Given the description of an element on the screen output the (x, y) to click on. 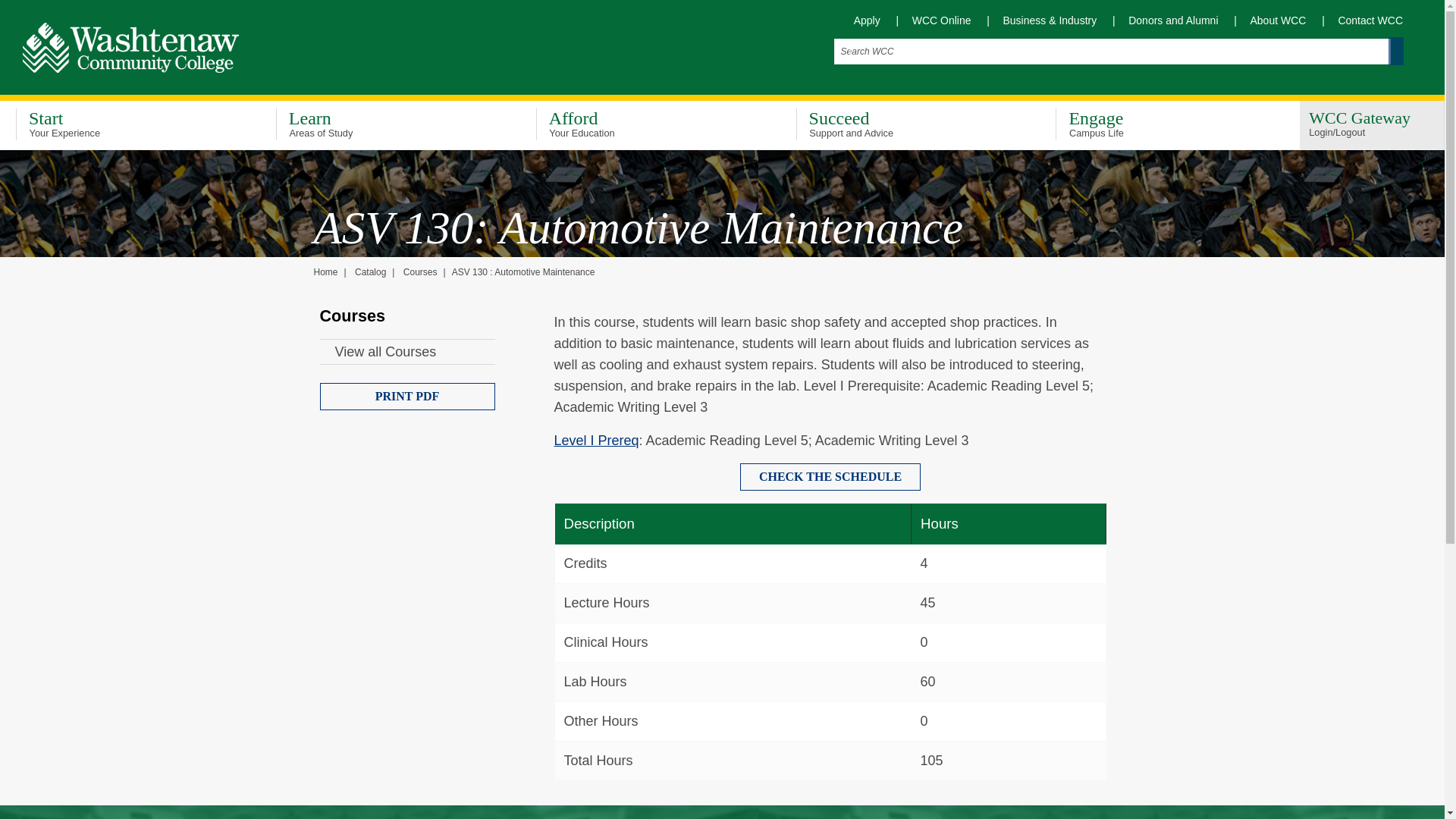
Apply (898, 125)
Contact WCC (860, 20)
WCC Online (1157, 125)
Donors and Alumni (1363, 20)
About WCC (935, 20)
About WCC (1166, 20)
Contact WCC (1272, 20)
Donors and Alumni (378, 125)
For Business (1272, 20)
